Given the description of an element on the screen output the (x, y) to click on. 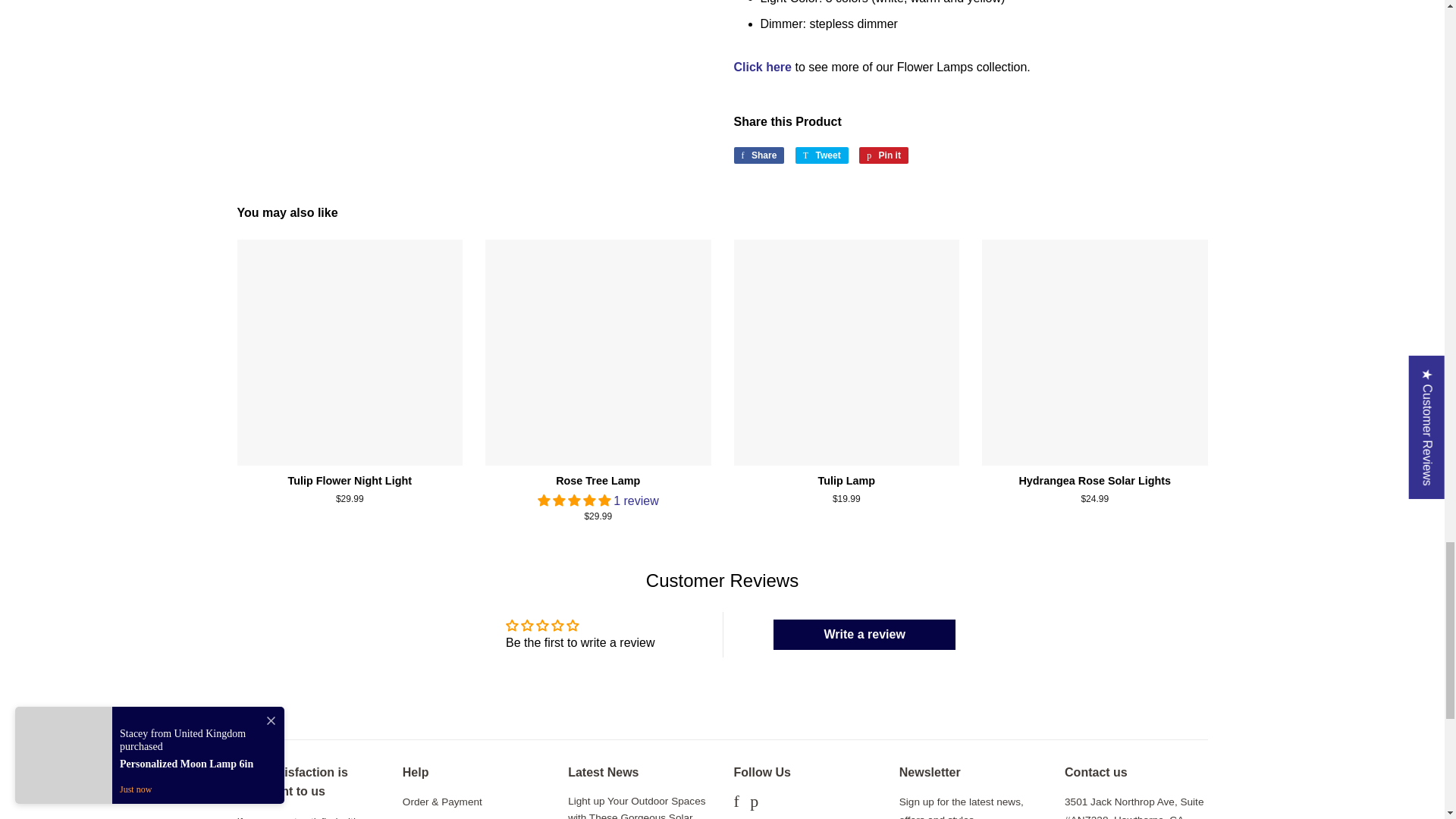
Pin on Pinterest (883, 155)
Tweet on Twitter (821, 155)
Share on Facebook (758, 155)
Flower Lamps (762, 66)
